Given the description of an element on the screen output the (x, y) to click on. 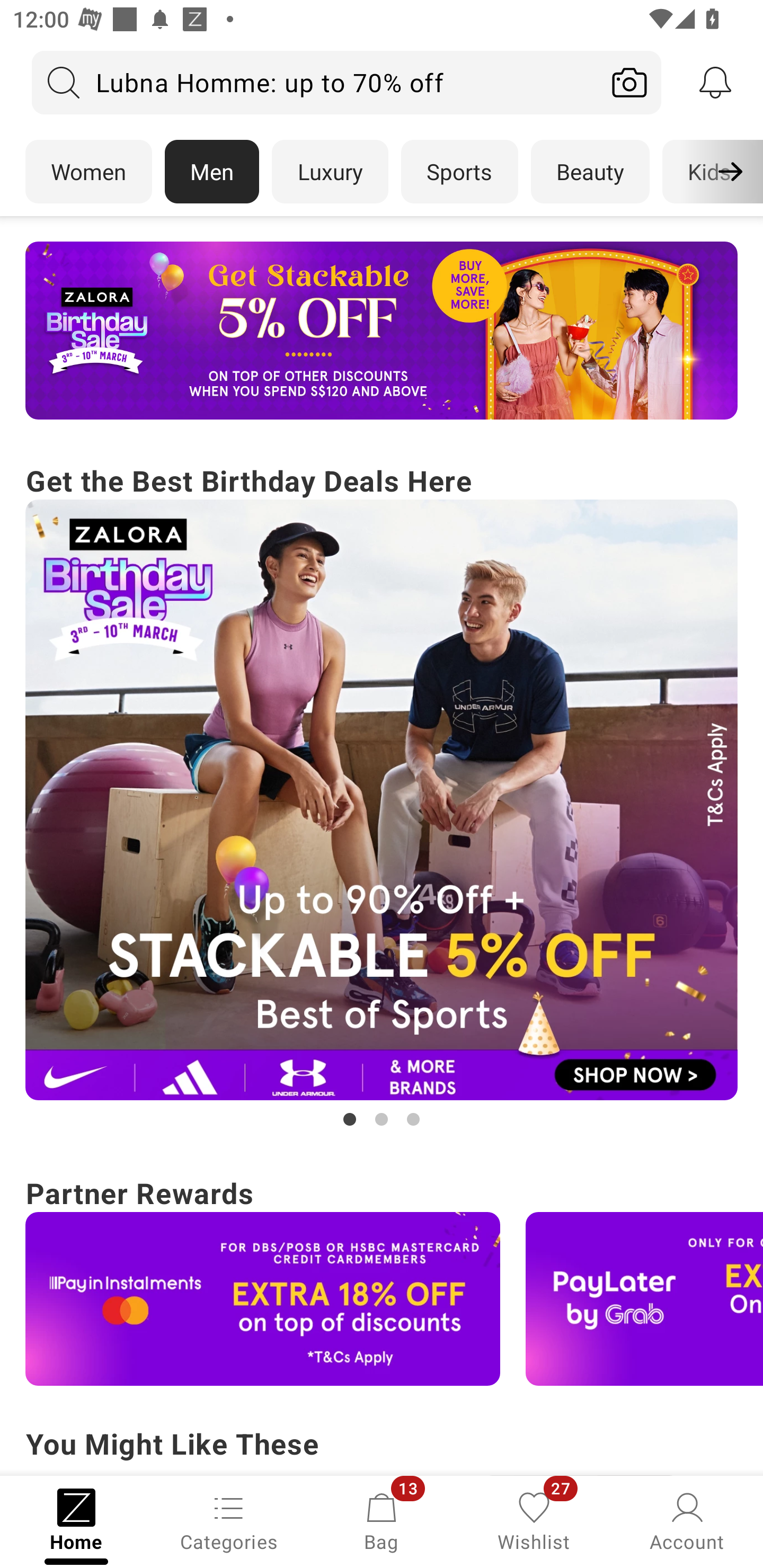
Lubna Homme: up to 70% off (314, 82)
Women (88, 171)
Men (211, 171)
Luxury (329, 171)
Sports (459, 171)
Beauty (590, 171)
Campaign banner (381, 330)
Get the Best Birthday Deals Here Campaign banner (381, 794)
Campaign banner (381, 800)
Partner Rewards Campaign banner Campaign banner (381, 1277)
Campaign banner (262, 1299)
Campaign banner (644, 1299)
Categories (228, 1519)
Bag, 13 new notifications Bag (381, 1519)
Wishlist, 27 new notifications Wishlist (533, 1519)
Account (686, 1519)
